Given the description of an element on the screen output the (x, y) to click on. 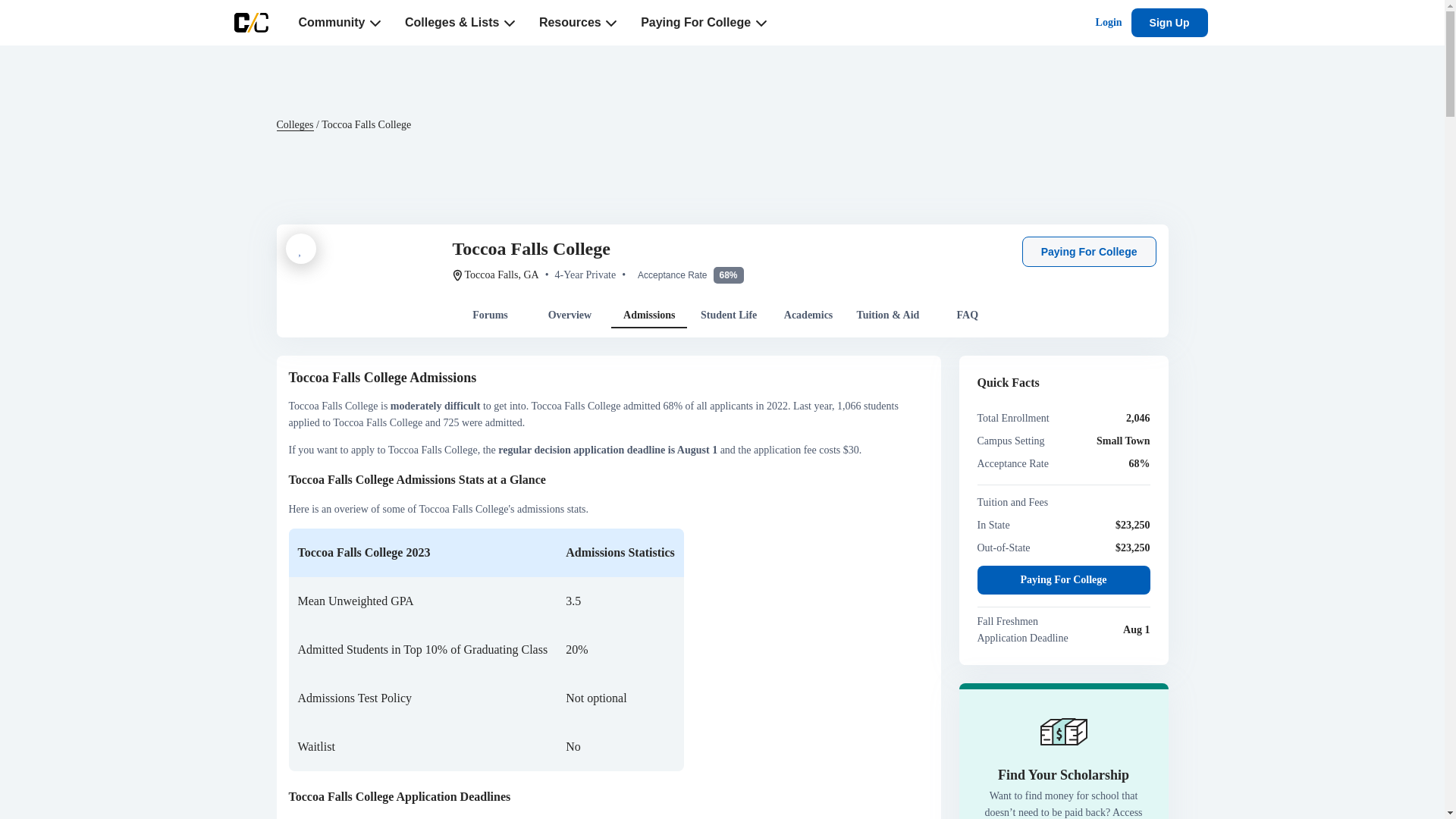
Sign up (1169, 22)
Log in (1109, 22)
Login (1109, 22)
Colleges (294, 124)
7C6B5DA8-C847-426B-8DA5-B5EA3616E8C5 (374, 23)
Sign Up (1169, 22)
7C6B5DA8-C847-426B-8DA5-B5EA3616E8C5 (610, 23)
7C6B5DA8-C847-426B-8DA5-B5EA3616E8C5 (760, 23)
7C6B5DA8-C847-426B-8DA5-B5EA3616E8C5 (509, 23)
Community 7C6B5DA8-C847-426B-8DA5-B5EA3616E8C5 (339, 22)
